Given the description of an element on the screen output the (x, y) to click on. 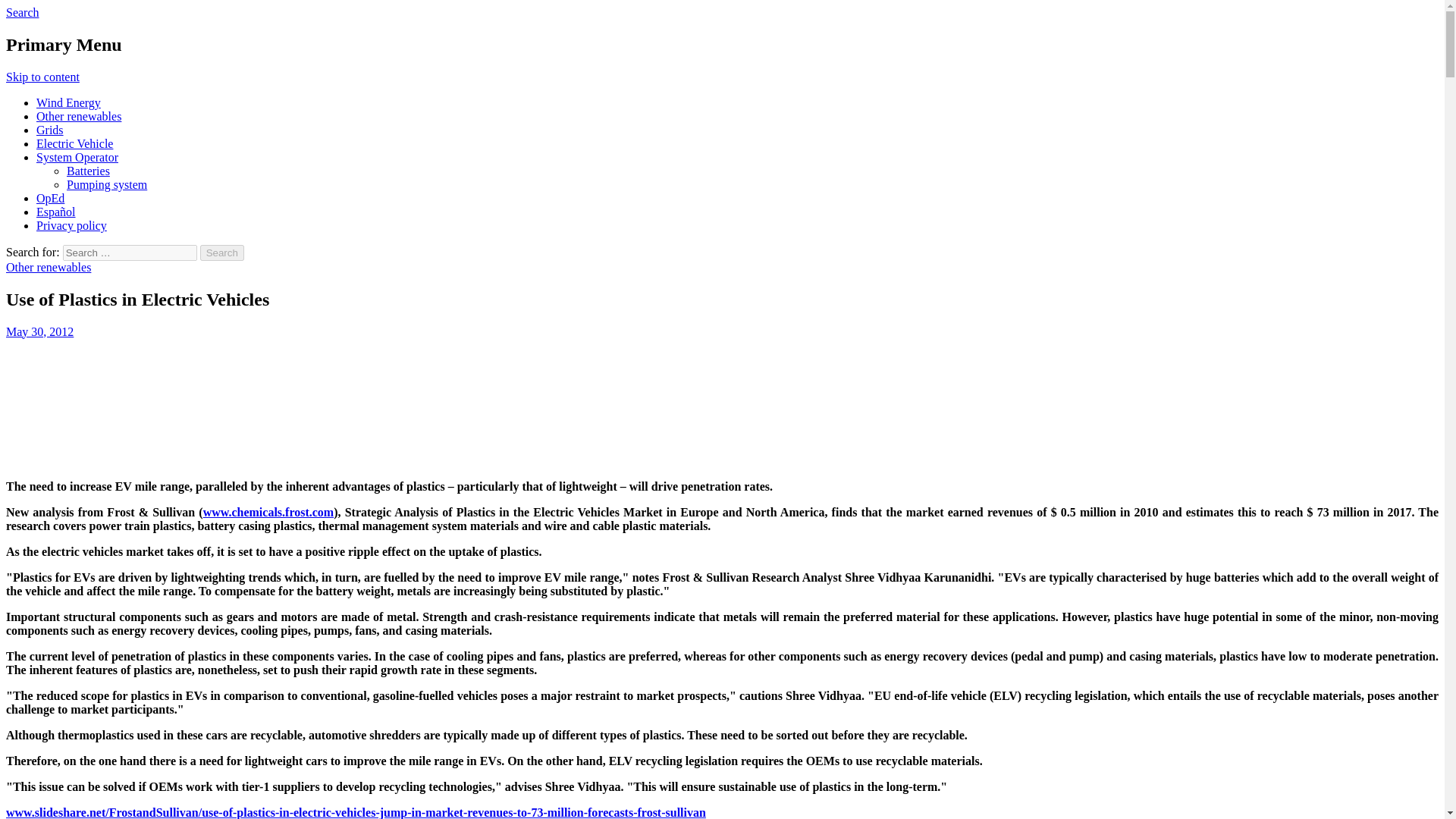
www.chemicals.frost.com (268, 512)
Search (222, 252)
May 30, 2012 (39, 331)
Search (222, 252)
Grids (50, 129)
Other renewables (47, 267)
Skip to content (42, 76)
Electric Vehicle (74, 143)
Pumping system (106, 184)
Batteries (88, 170)
